Given the description of an element on the screen output the (x, y) to click on. 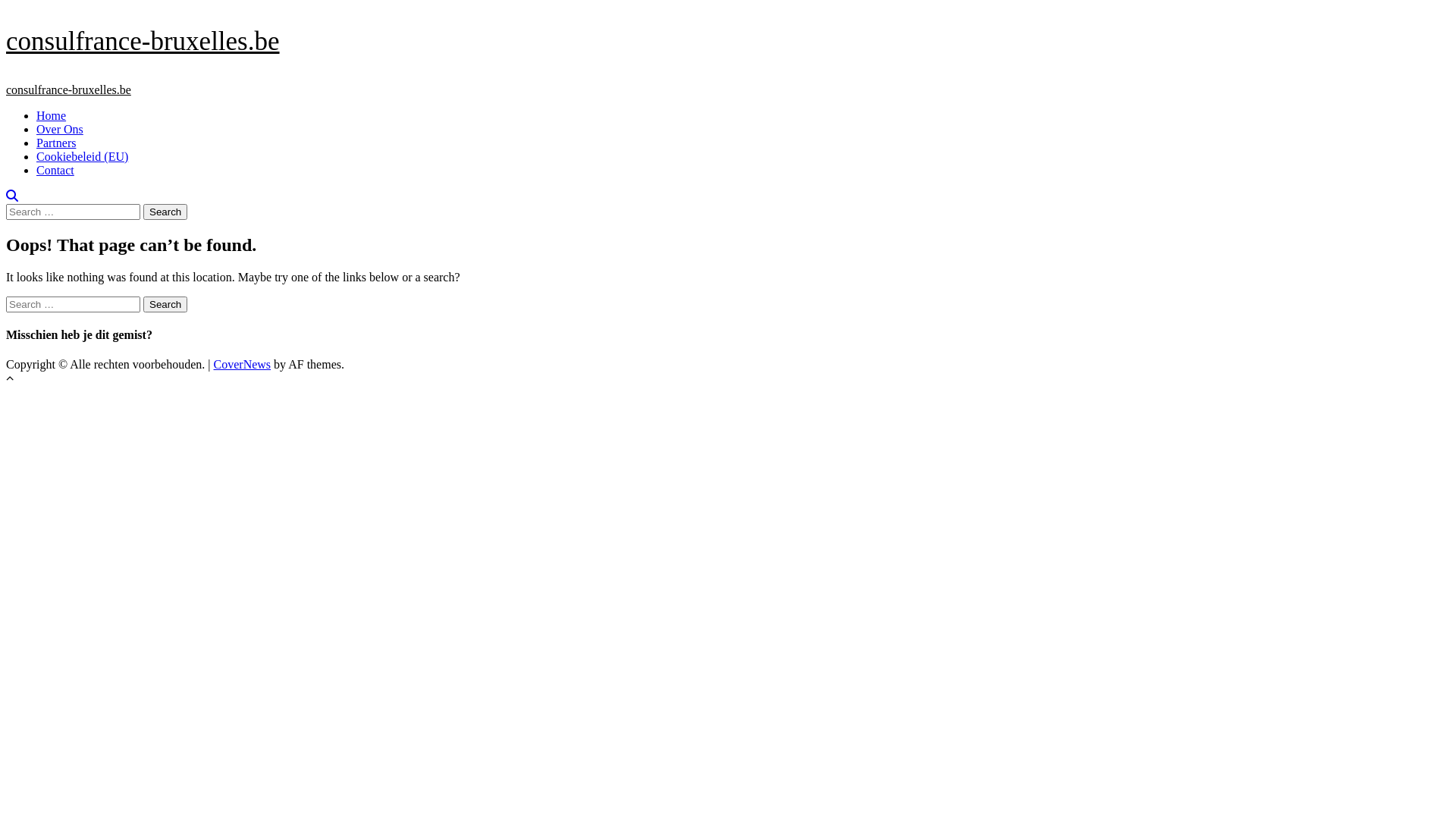
Home Element type: text (50, 115)
Contact Element type: text (55, 169)
Search Element type: text (165, 211)
Search Element type: hover (12, 196)
consulfrance-bruxelles.be Element type: text (68, 89)
consulfrance-bruxelles.be Element type: text (142, 41)
Search Element type: text (165, 304)
Cookiebeleid (EU) Element type: text (82, 156)
CoverNews Element type: text (242, 363)
Skip to content Element type: text (5, 25)
Partners Element type: text (55, 142)
Over Ons Element type: text (59, 128)
